Given the description of an element on the screen output the (x, y) to click on. 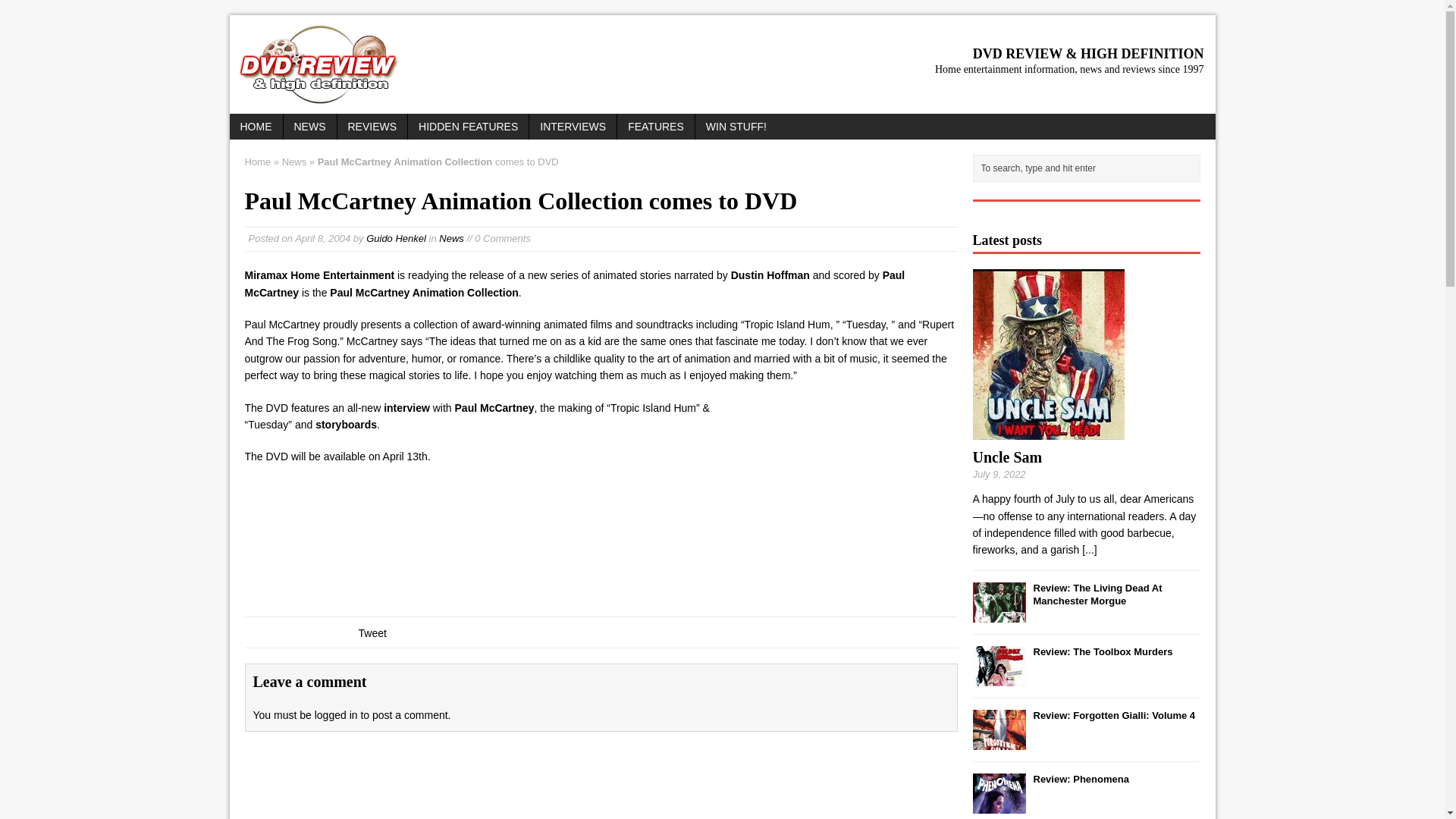
logged in (336, 715)
INTERVIEWS (572, 126)
HOME (255, 126)
Review: The Living Dead At Manchester Morgue (1096, 594)
News (451, 238)
Home (257, 161)
The Toolbox Murders (998, 677)
Review: Forgotten Gialli: Volume 4 (1113, 715)
Guido Henkel (396, 238)
To search, type and hit enter (1089, 167)
